Given the description of an element on the screen output the (x, y) to click on. 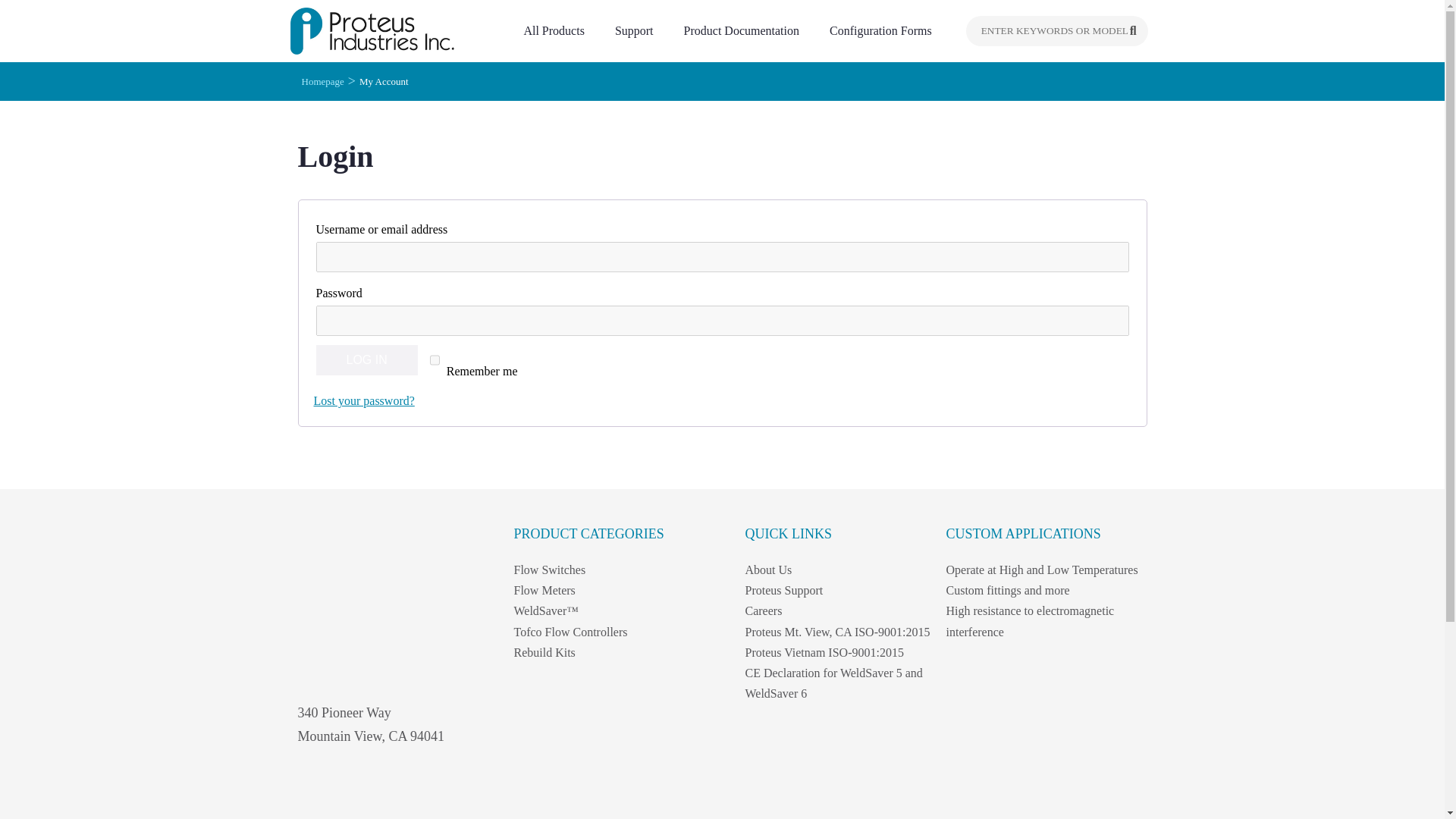
Homepage (322, 81)
Support (638, 30)
All Products (557, 30)
ISO (319, 792)
